Given the description of an element on the screen output the (x, y) to click on. 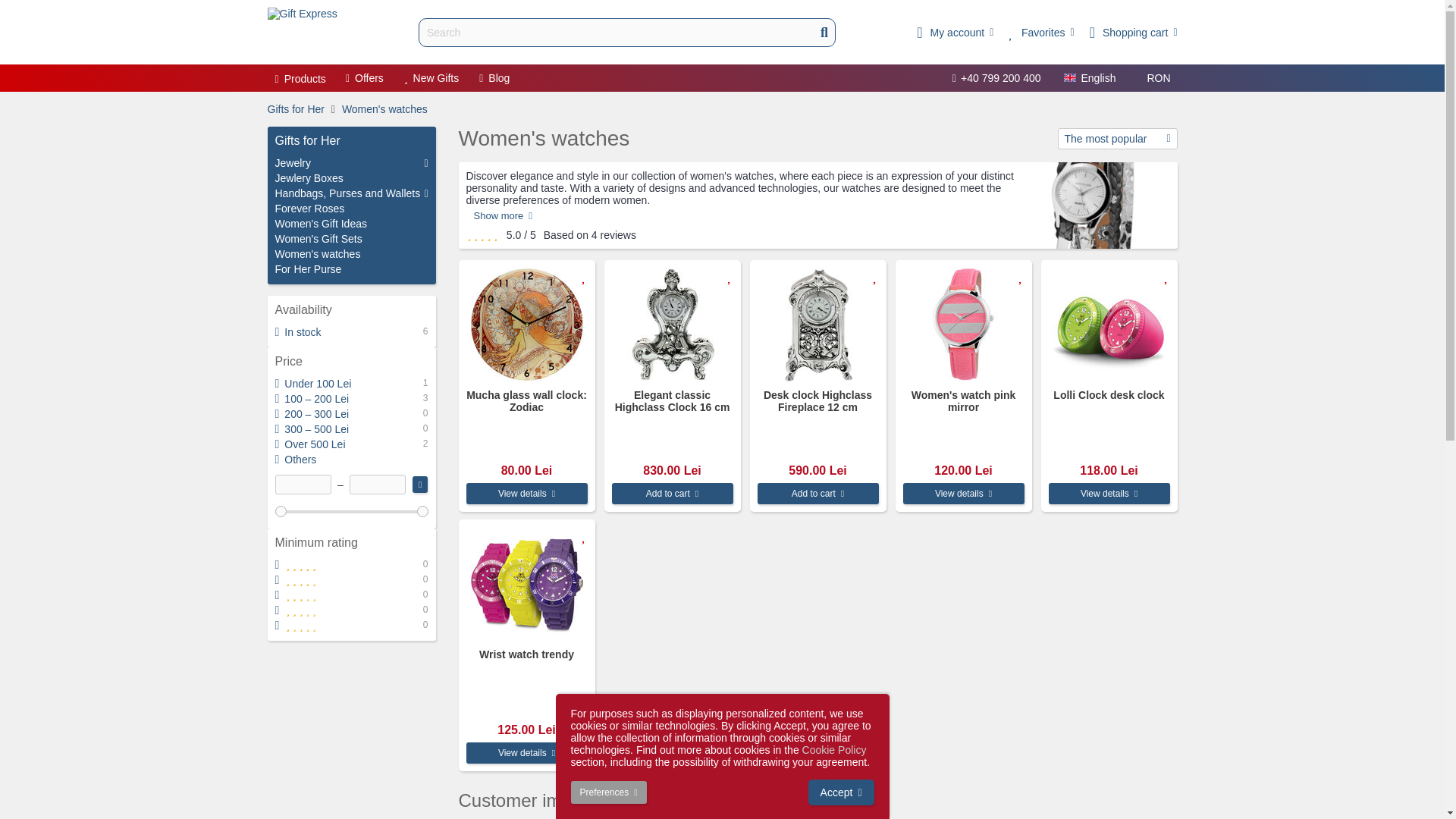
My account (954, 31)
100 (351, 509)
Favorites (1041, 31)
Wrist watch trendy (525, 583)
0 (351, 509)
Women's watch pink mirror (962, 324)
Products (299, 79)
Mucha glass wall clock: Zodiac (525, 324)
Lolli Clock desk clock (1108, 324)
Elegant classic Highclass Clock 16 cm (671, 324)
Gift Express (301, 31)
Shopping cart (1133, 31)
Desk clock Highclass Fireplace 12 cm (817, 324)
